Given the description of an element on the screen output the (x, y) to click on. 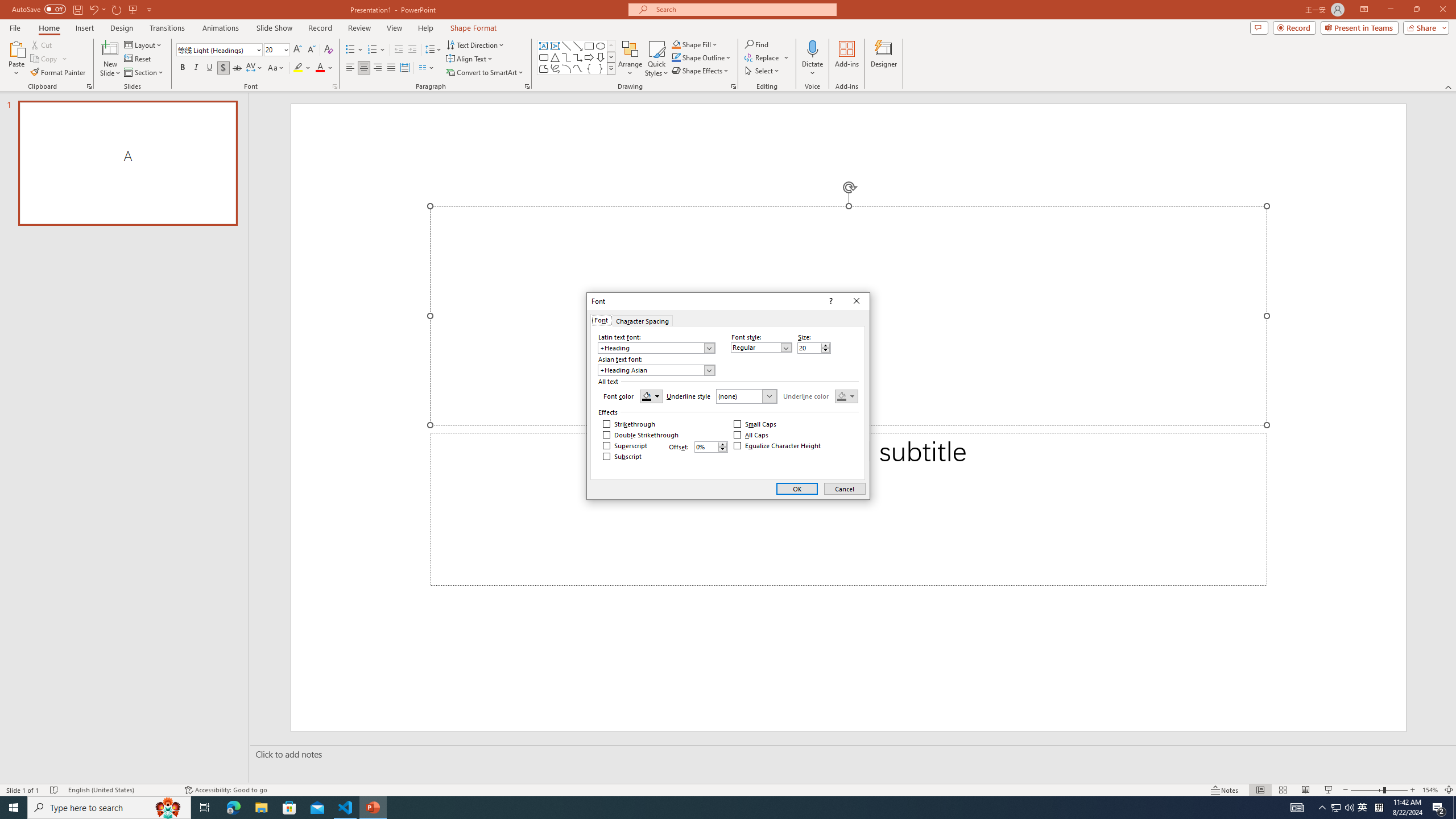
Open (769, 395)
Decrease Indent (398, 49)
